Given the description of an element on the screen output the (x, y) to click on. 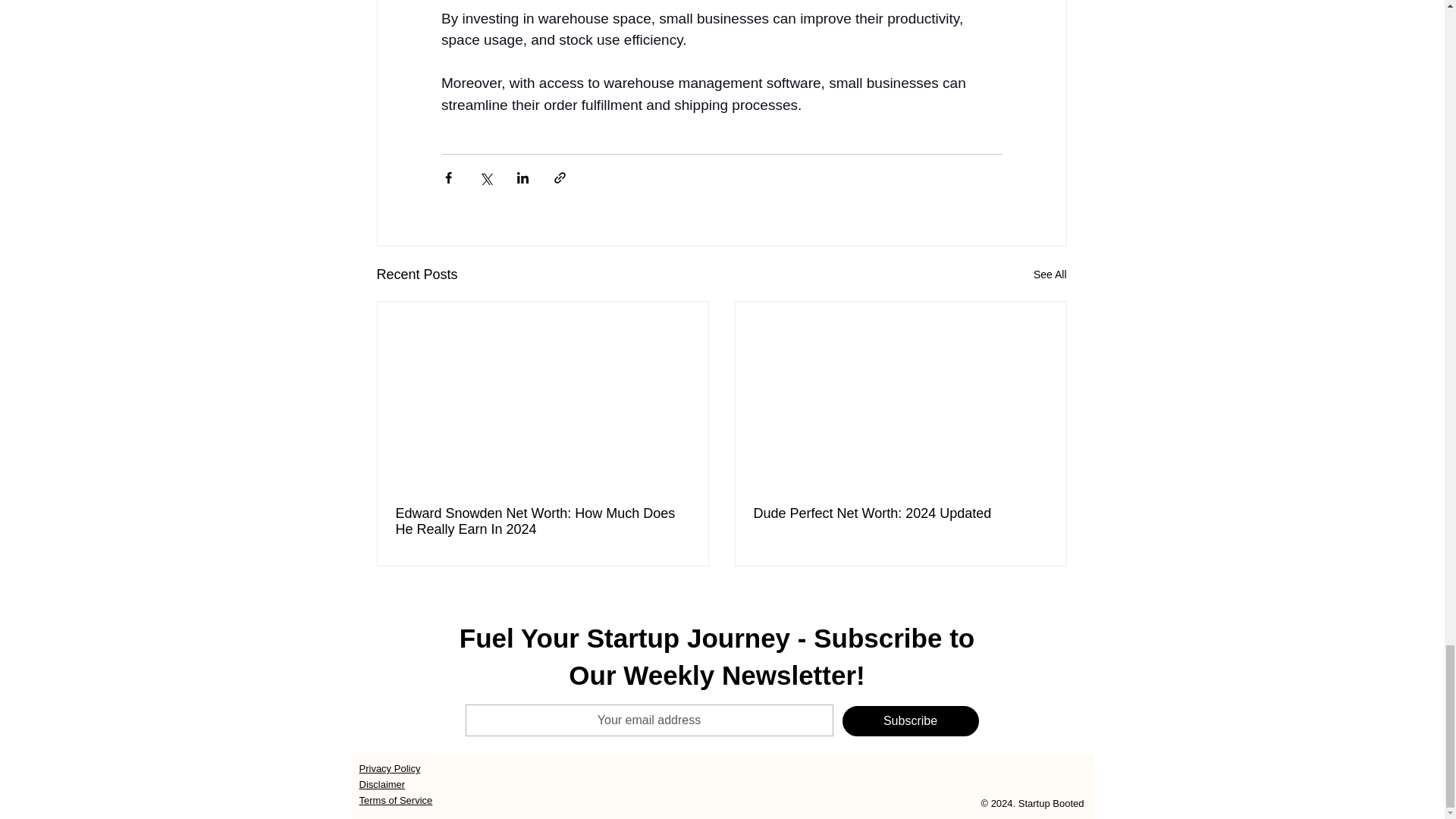
Terms of Service (395, 799)
Dude Perfect Net Worth: 2024 Updated (901, 513)
Disclaimer (382, 784)
See All (1050, 274)
Subscribe (909, 720)
Privacy Policy (389, 767)
